Given the description of an element on the screen output the (x, y) to click on. 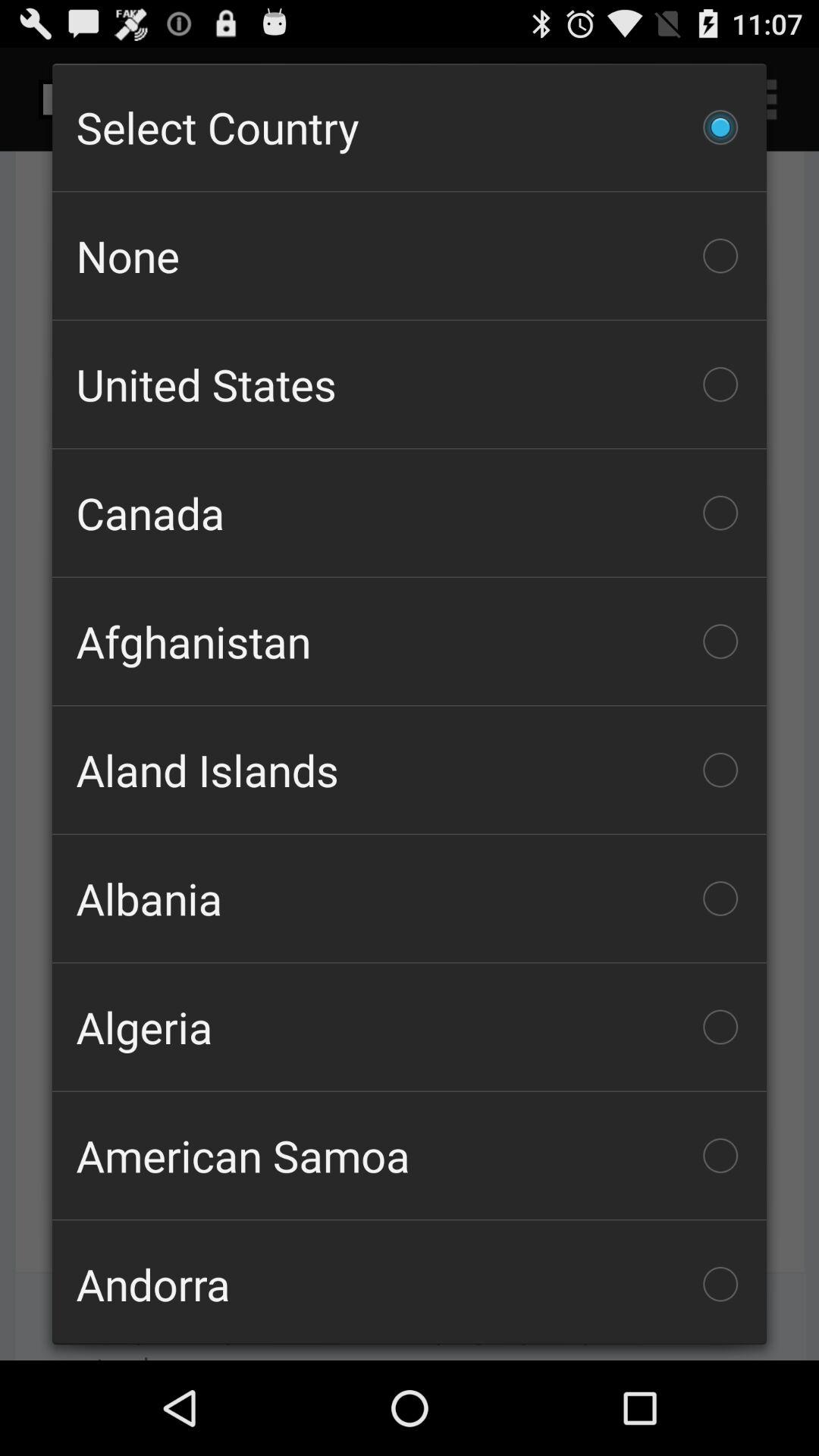
click the icon above the afghanistan item (409, 512)
